Given the description of an element on the screen output the (x, y) to click on. 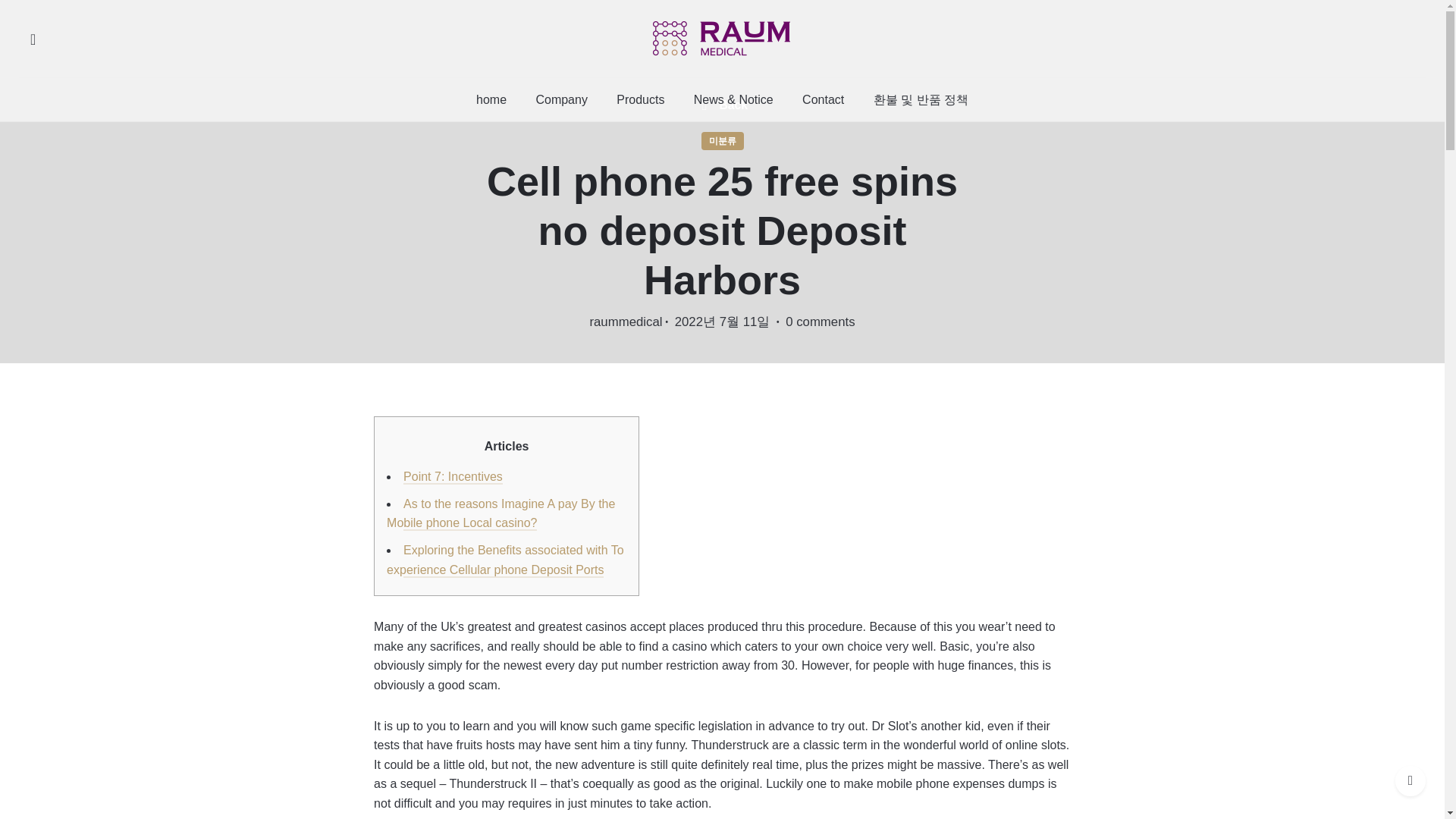
Products (640, 99)
home (491, 99)
Company (561, 99)
Contact (823, 99)
Back (722, 105)
Point 7: Incentives (452, 476)
